Given the description of an element on the screen output the (x, y) to click on. 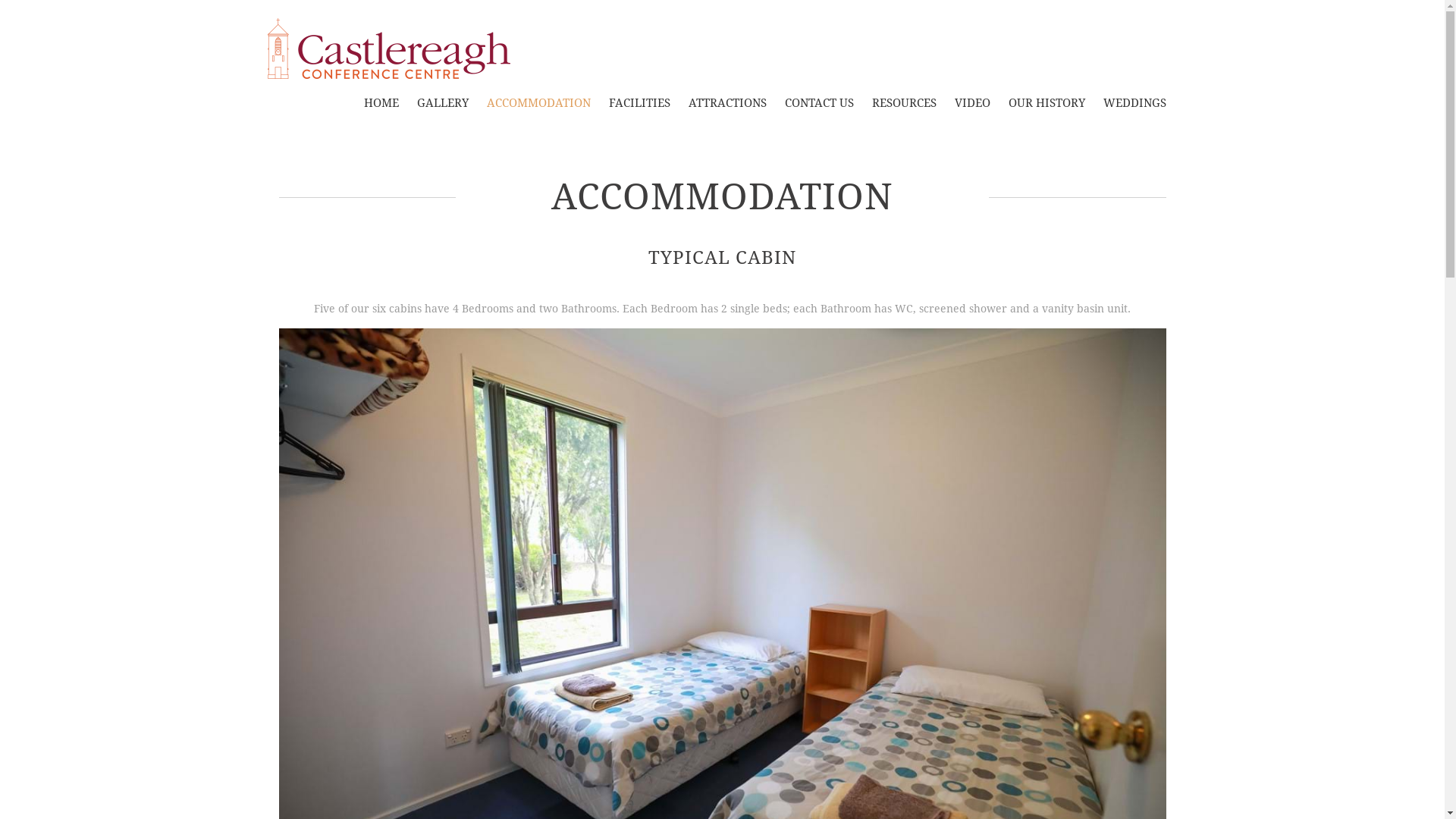
VIDEO Element type: text (971, 102)
ATTRACTIONS Element type: text (727, 102)
CONTACT US Element type: text (818, 102)
GALLERY Element type: text (442, 102)
WEDDINGS Element type: text (1133, 102)
FACILITIES Element type: text (638, 102)
HOME Element type: text (381, 102)
RESOURCES Element type: text (904, 102)
OUR HISTORY Element type: text (1046, 102)
ACCOMMODATION Element type: text (538, 102)
